Given the description of an element on the screen output the (x, y) to click on. 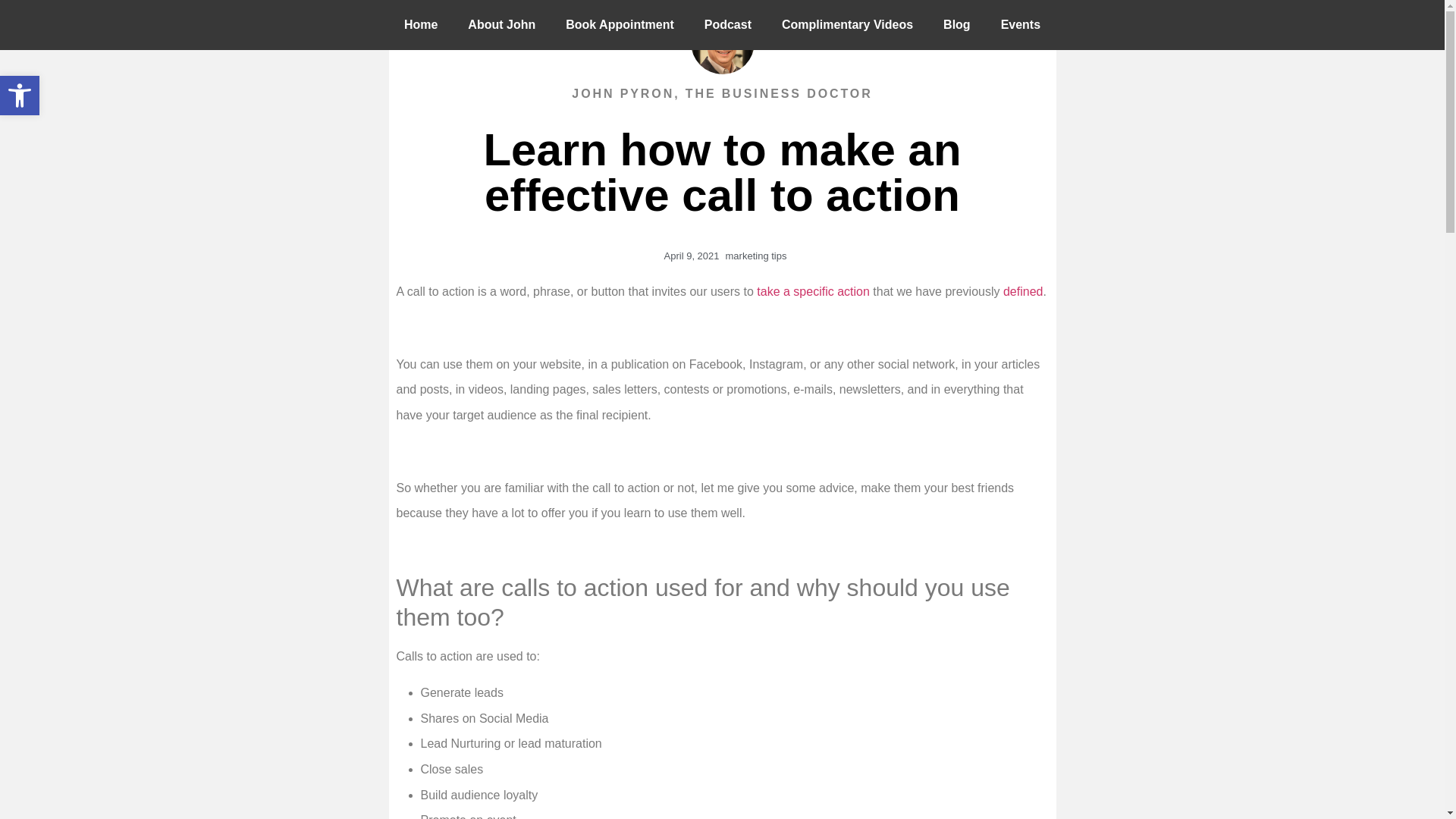
Podcast (727, 24)
About John (19, 95)
Accessibility Tools (501, 24)
Complimentary Videos (19, 95)
Blog (847, 24)
Book Appointment (956, 24)
Accessibility Tools (619, 24)
Home (19, 95)
Events (420, 24)
